Given the description of an element on the screen output the (x, y) to click on. 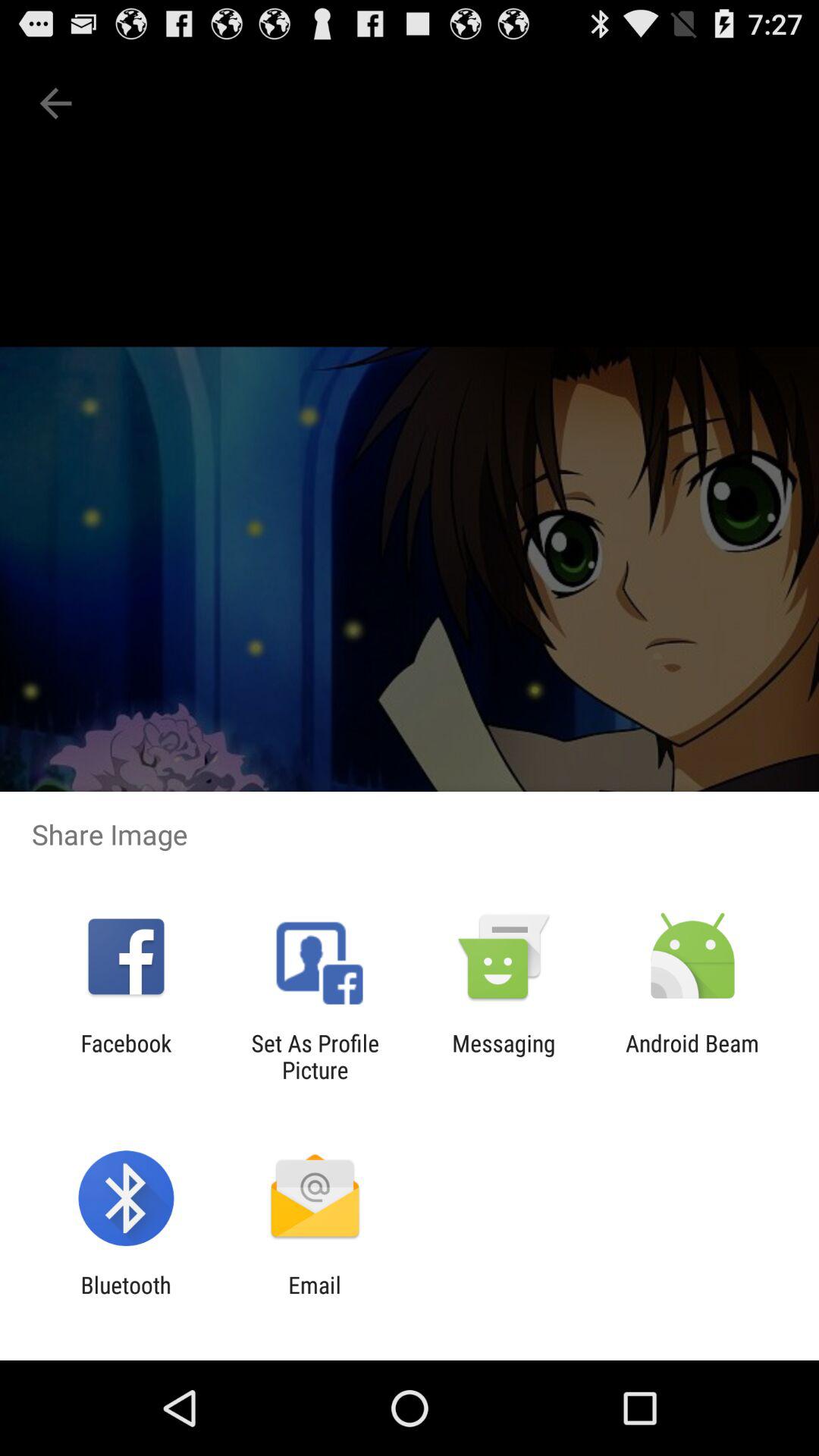
click the app at the bottom right corner (692, 1056)
